Given the description of an element on the screen output the (x, y) to click on. 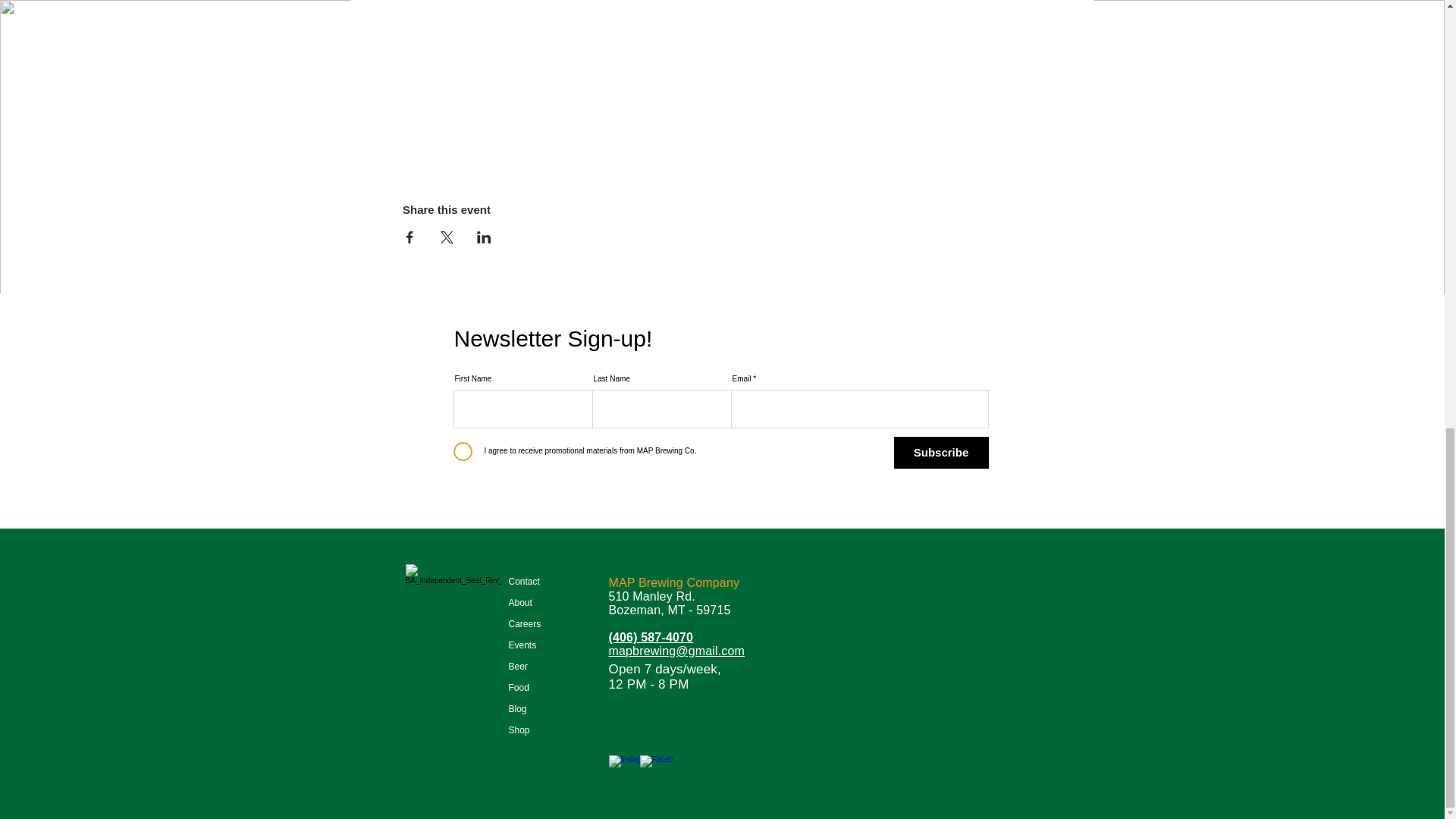
Shop (537, 730)
About (537, 602)
Contact (537, 581)
Blog (537, 708)
Events (537, 645)
Beer (537, 666)
Careers (537, 623)
Subscribe (940, 452)
Food (537, 687)
